Given the description of an element on the screen output the (x, y) to click on. 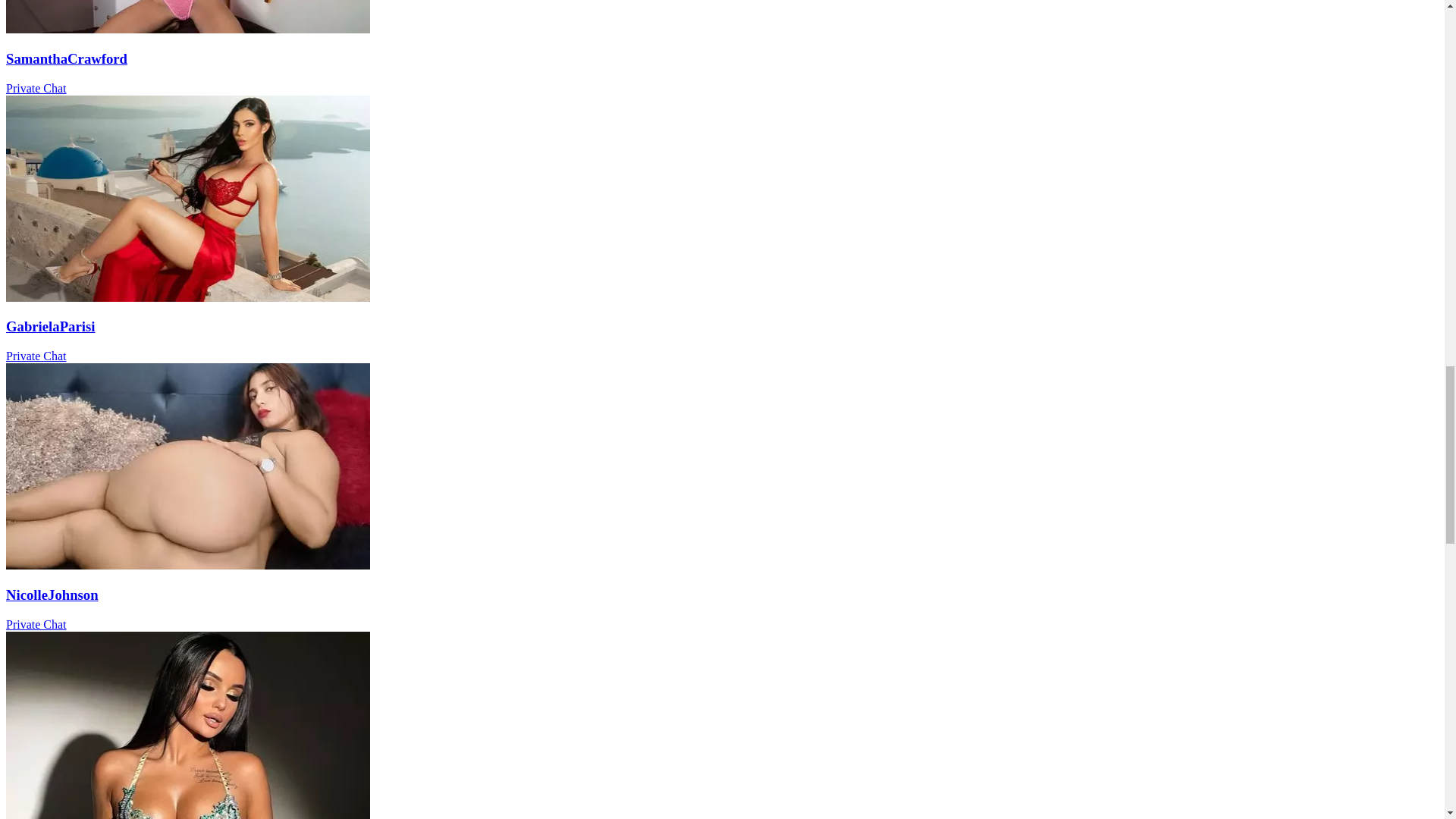
SamanthaCrawford's live cam (187, 29)
GabrielaParisi's live cam (187, 297)
NicolleJohnson's live cam (187, 564)
